Given the description of an element on the screen output the (x, y) to click on. 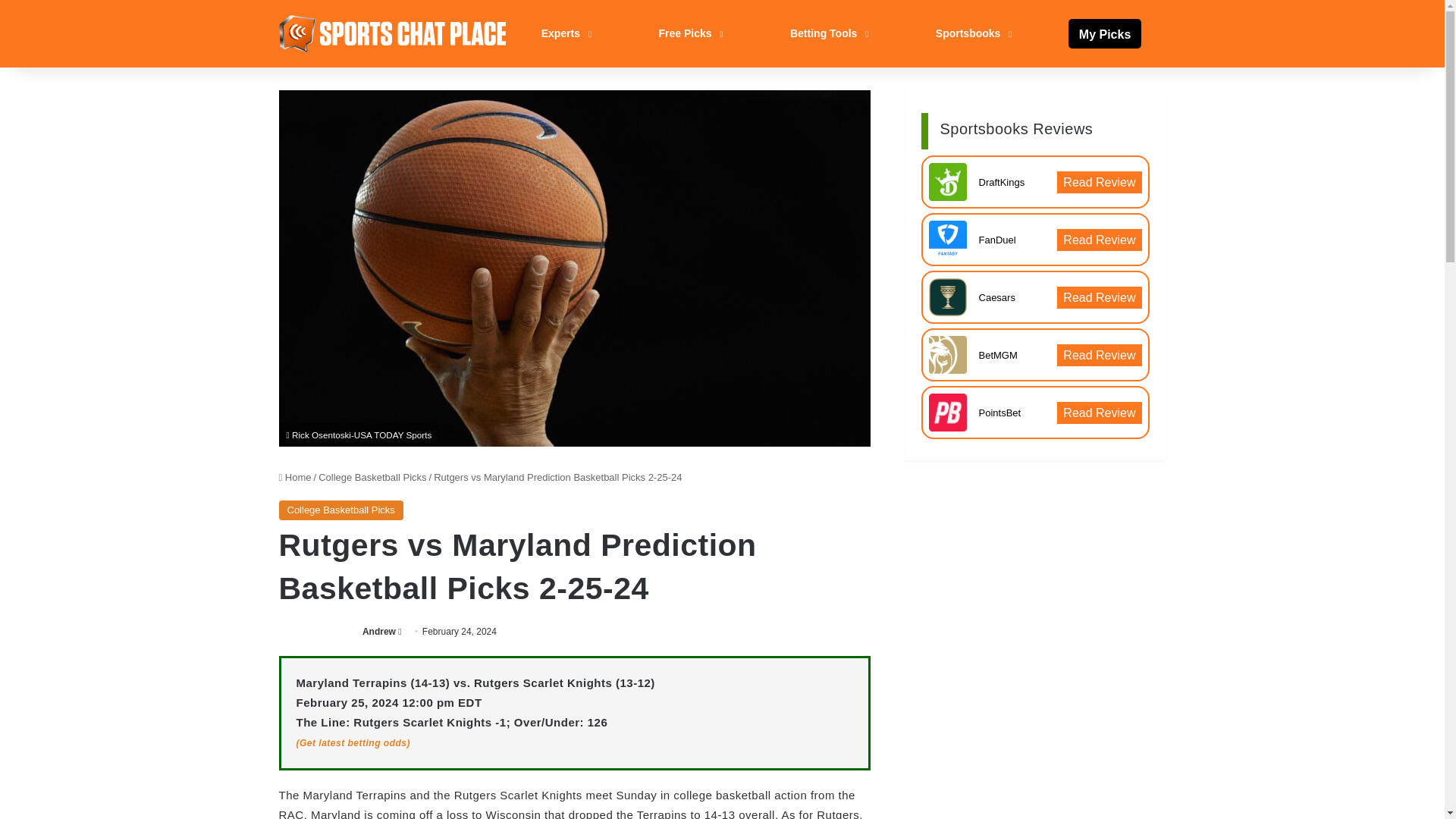
Sports Chat Place Picks, Betting News (392, 33)
Betting Tools (827, 33)
Free Picks (688, 33)
Andrew (379, 631)
Experts (564, 33)
